Given the description of an element on the screen output the (x, y) to click on. 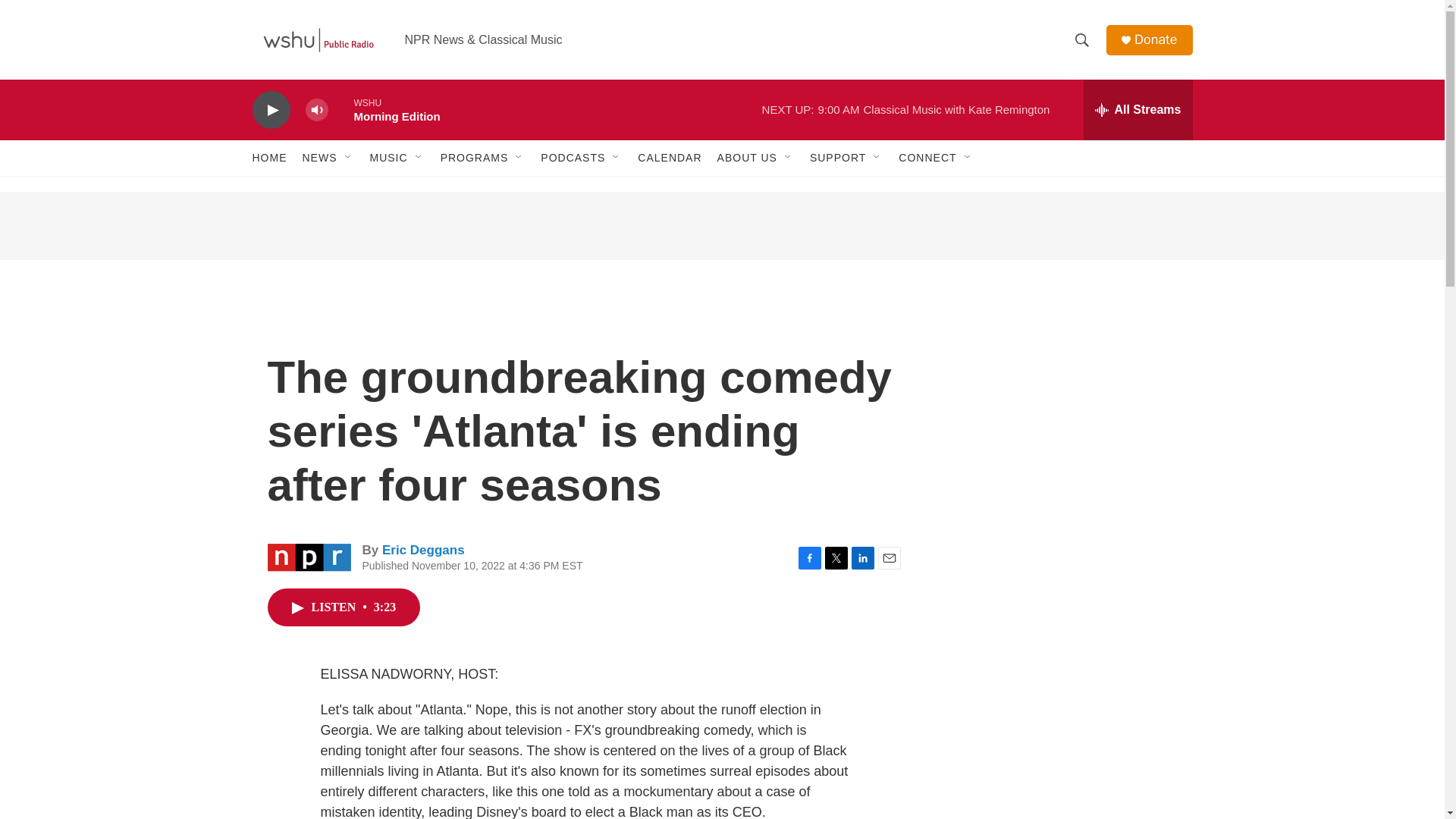
3rd party ad content (1062, 400)
3rd party ad content (1062, 782)
3rd party ad content (1062, 619)
3rd party ad content (721, 225)
